Given the description of an element on the screen output the (x, y) to click on. 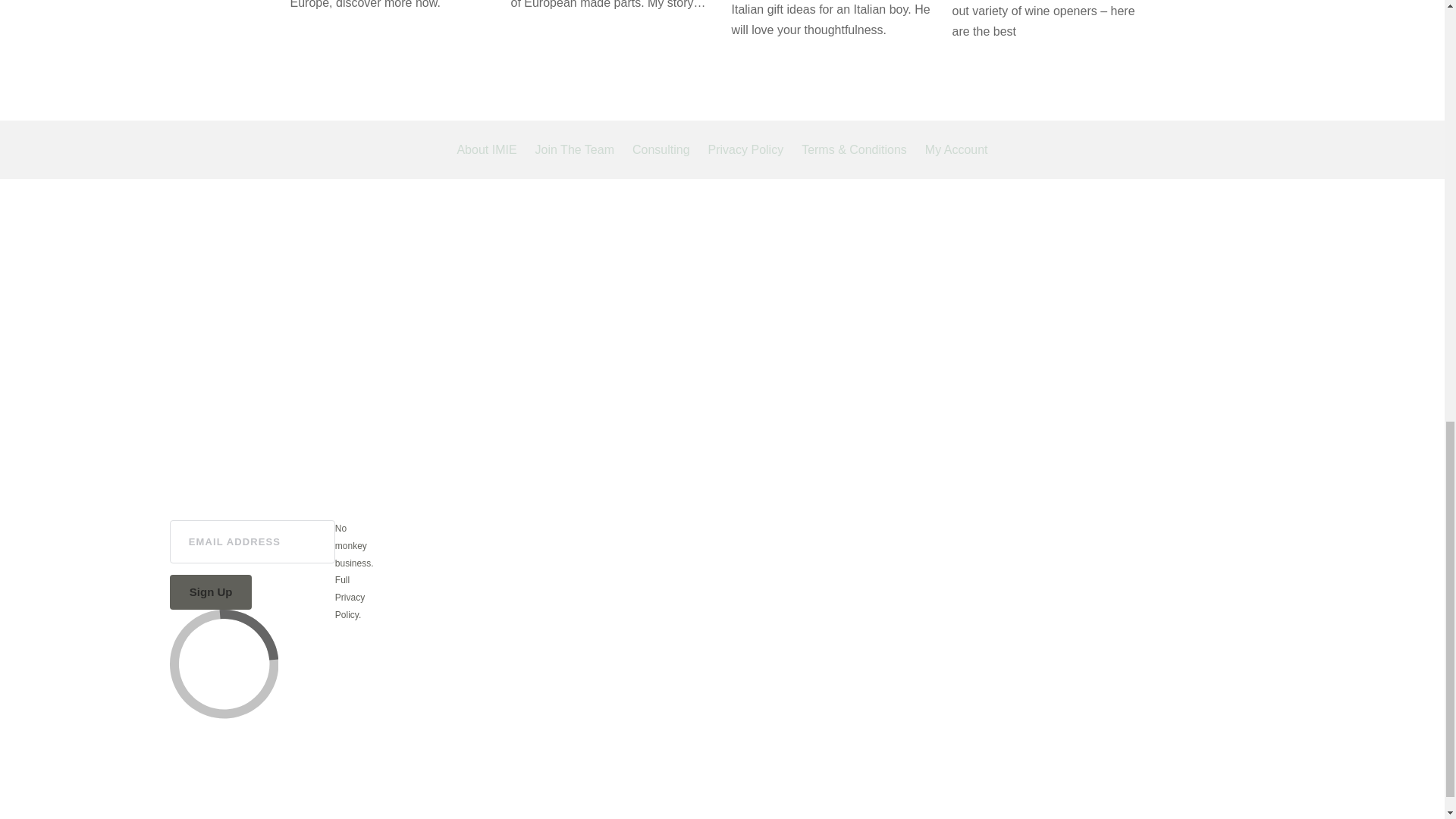
Sign Up (210, 591)
Privacy Policy. (349, 605)
About IMIE (486, 149)
Join The Team (574, 149)
Consulting (660, 149)
Privacy Policy (745, 149)
My Account (956, 149)
